Given the description of an element on the screen output the (x, y) to click on. 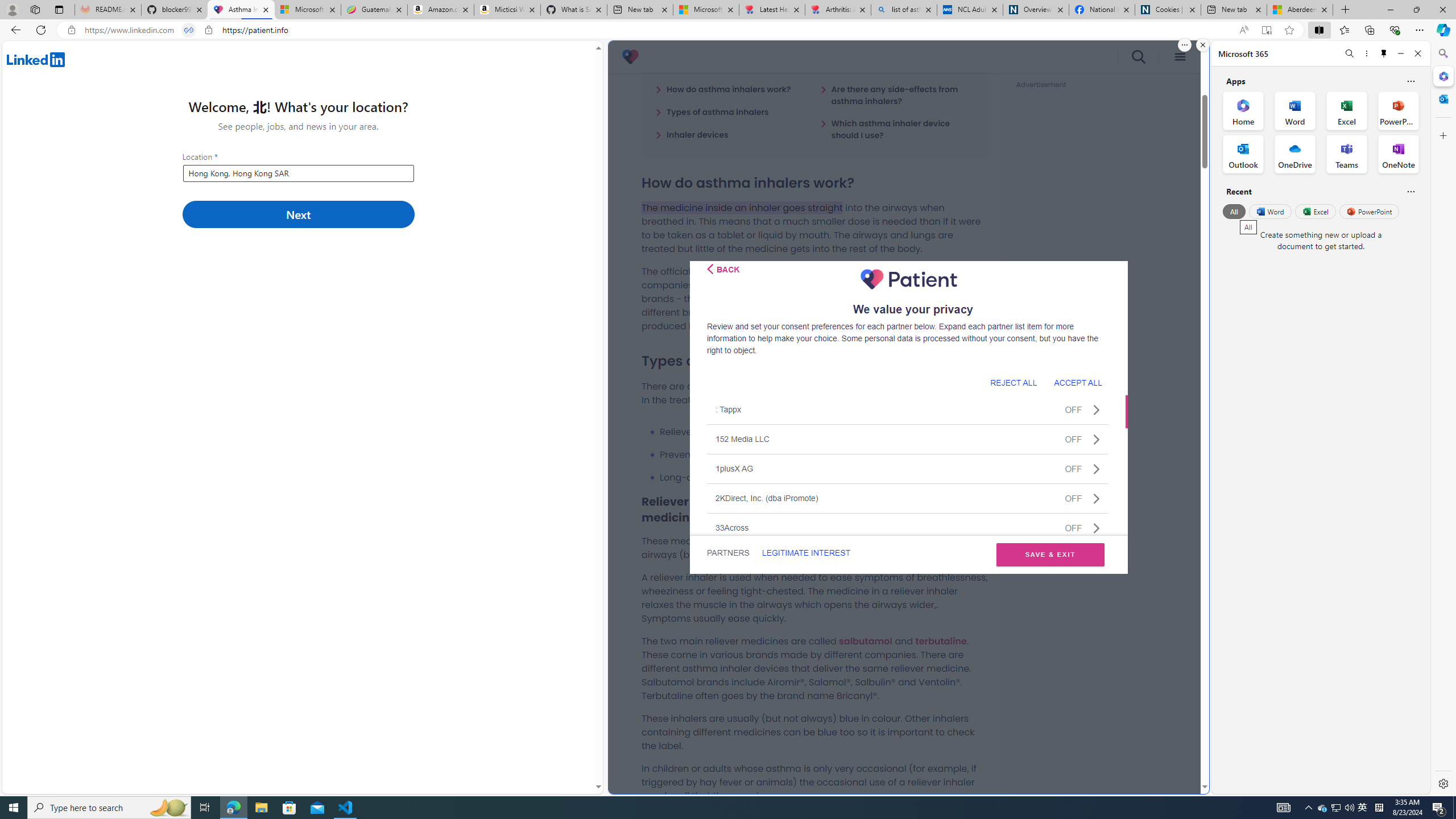
Is this helpful? (1410, 191)
2KDirect, Inc. (dba iPromote)OFF (907, 498)
Long-acting bronchodilators. (823, 477)
Tabs in split screen (189, 29)
PowerPoint Office App (1398, 110)
Cookies | About | NICE (1167, 9)
OneNote Office App (1398, 154)
Aberdeen, Hong Kong SAR hourly forecast | Microsoft Weather (1300, 9)
Which asthma inhaler device should I use? (897, 129)
Excel (1315, 210)
Word Office App (1295, 110)
Inhaler devices (691, 134)
